Given the description of an element on the screen output the (x, y) to click on. 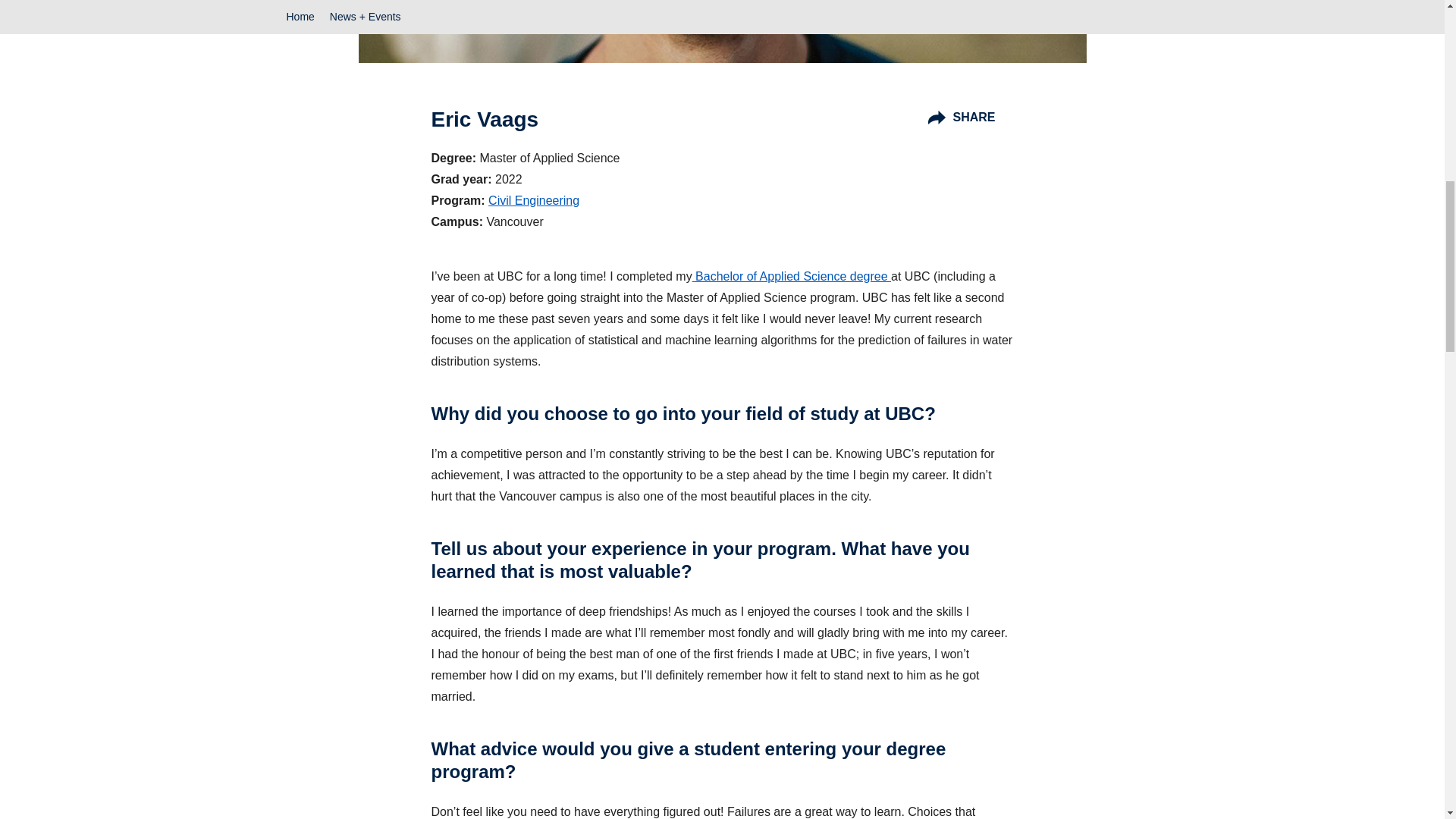
Find out more about Civil Engineering (533, 200)
